Given the description of an element on the screen output the (x, y) to click on. 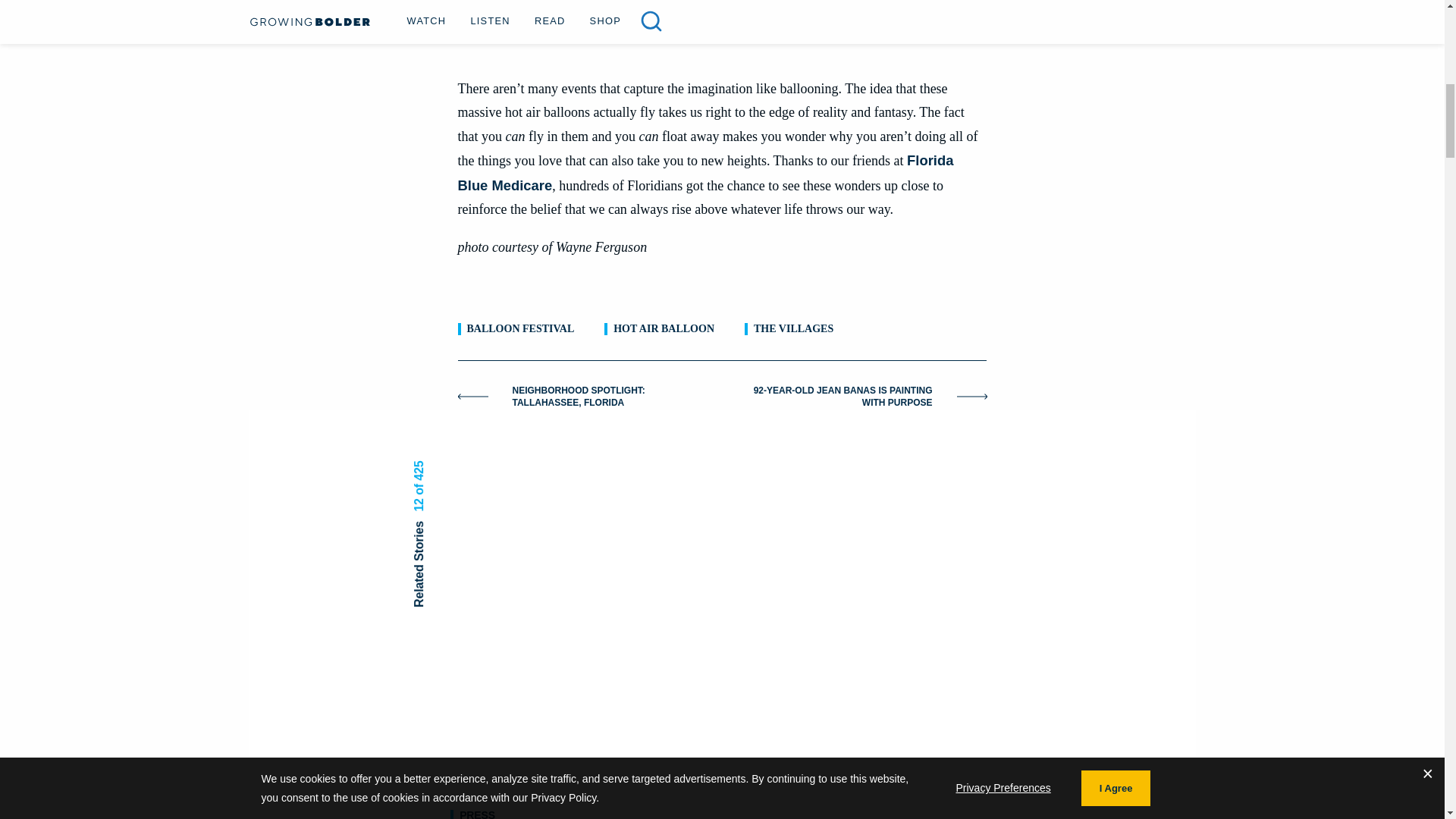
Link to: balloon festival (521, 328)
Link to: Florida Blue Medicare (705, 172)
Balloon Festival at The Villages (722, 26)
